Given the description of an element on the screen output the (x, y) to click on. 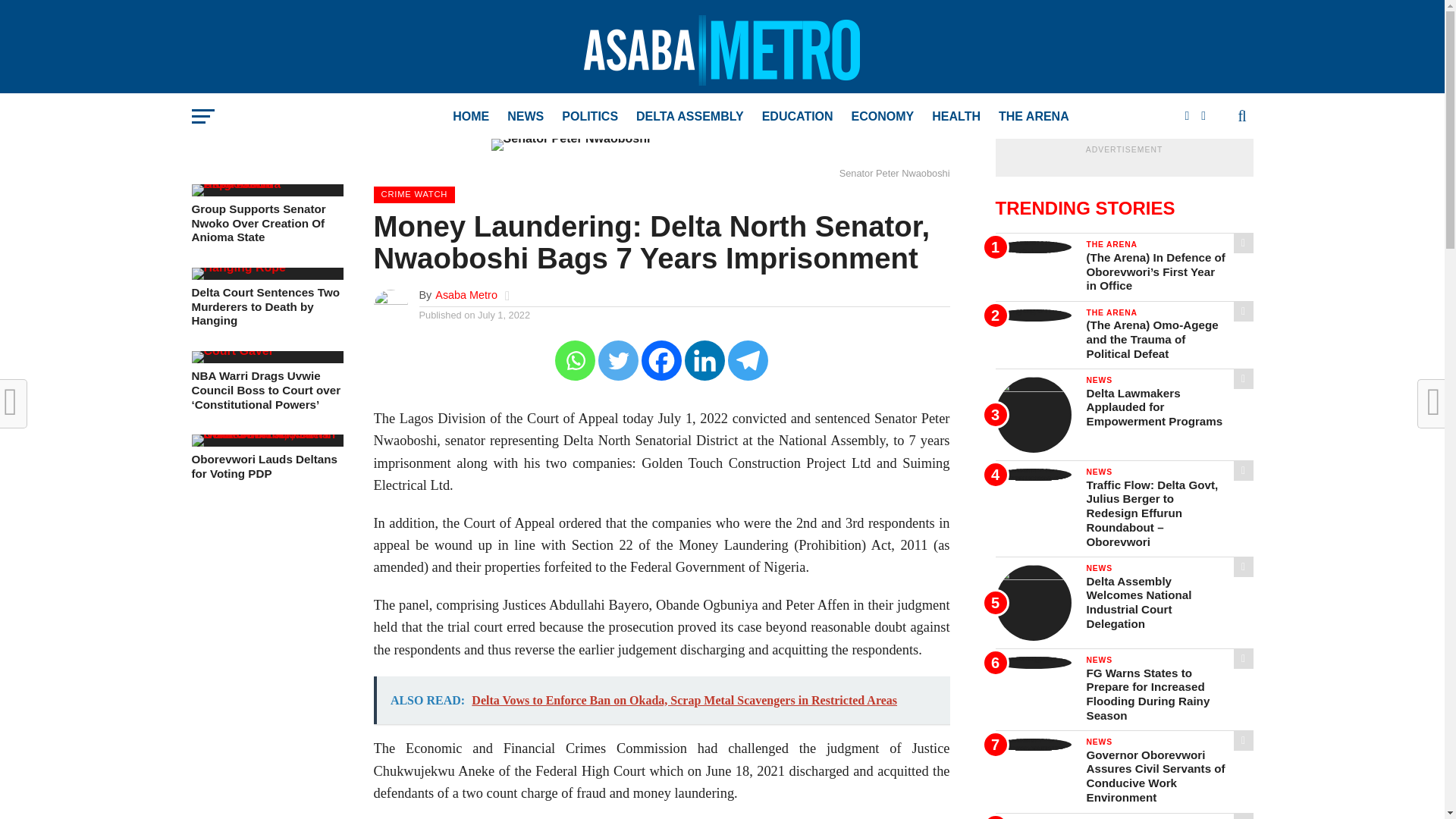
EDUCATION (797, 116)
Twitter (618, 360)
Group Supports Senator Nwoko Over Creation Of Anioma State (266, 183)
Delta Court Sentences Two Murderers to Death by Hanging (266, 306)
ECONOMY (883, 116)
Delta Court Sentences Two Murderers to Death by Hanging (237, 267)
Facebook (661, 360)
Whatsapp (574, 360)
DELTA ASSEMBLY (689, 116)
Group Supports Senator Nwoko Over Creation Of Anioma State (266, 223)
Telegram (748, 360)
Linkedin (704, 360)
HEALTH (956, 116)
THE ARENA (1034, 116)
Posts by Asaba Metro (466, 295)
